Given the description of an element on the screen output the (x, y) to click on. 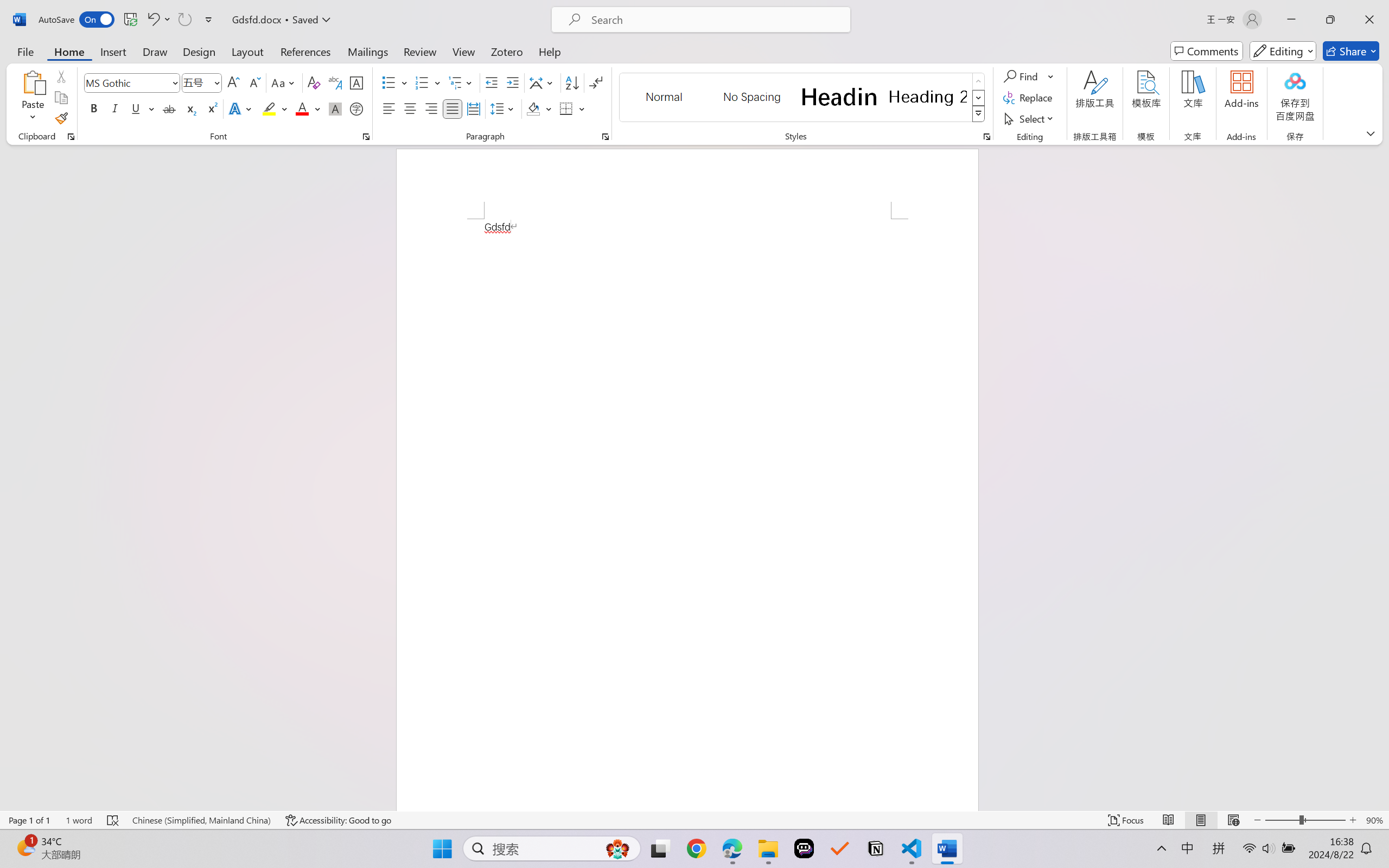
Undo Font Formatting (158, 19)
